Given the description of an element on the screen output the (x, y) to click on. 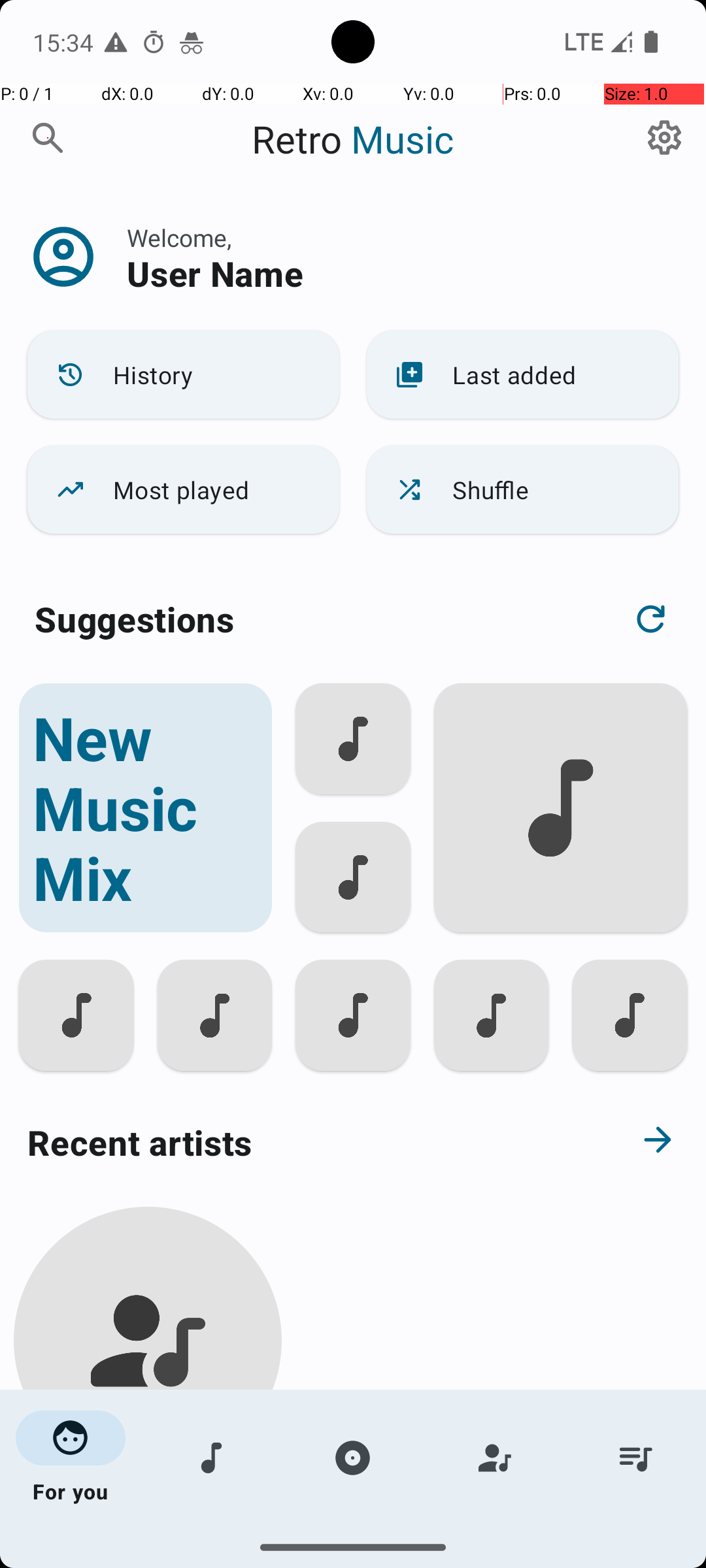
Retro Music Element type: android.widget.TextView (352, 138)
For you Element type: android.widget.FrameLayout (70, 1457)
Songs Element type: android.widget.FrameLayout (211, 1457)
Albums Element type: android.widget.FrameLayout (352, 1457)
Artists Element type: android.widget.FrameLayout (493, 1457)
Playlists Element type: android.widget.FrameLayout (635, 1457)
Welcome, Element type: android.widget.TextView (179, 237)
User Name Element type: android.widget.TextView (214, 273)
Last added Element type: android.widget.Button (522, 374)
Most played Element type: android.widget.Button (183, 489)
Shuffle Element type: android.widget.Button (522, 489)
Suggestions Element type: android.widget.TextView (134, 618)
New Music Mix Element type: android.widget.TextView (144, 807)
Recent artists Element type: android.widget.TextView (304, 1141)
Recent albums Element type: android.widget.TextView (304, 1557)
Alejandro Element type: android.widget.TextView (147, 1503)
